Given the description of an element on the screen output the (x, y) to click on. 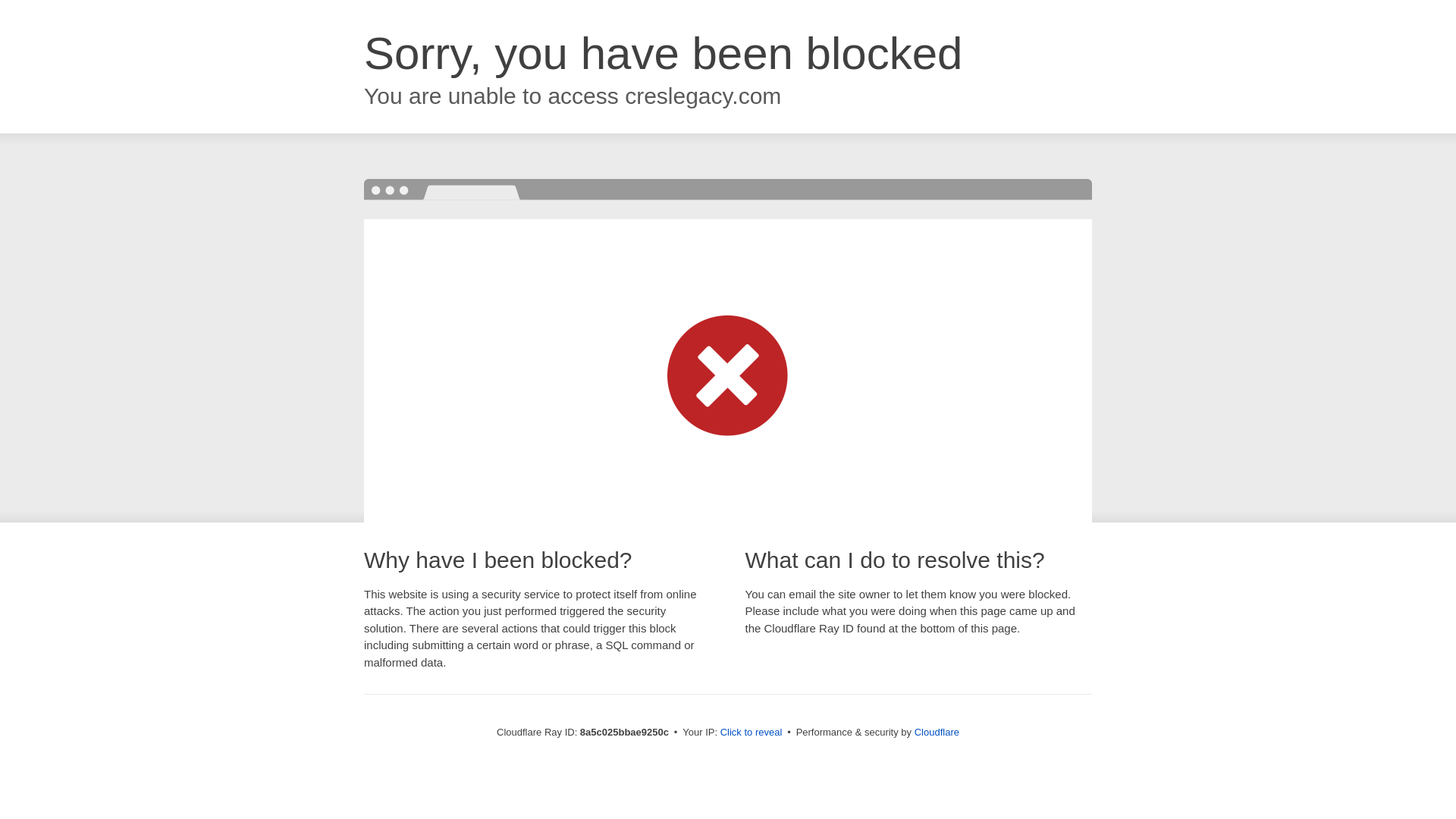
Cloudflare (936, 731)
Click to reveal (751, 732)
